Given the description of an element on the screen output the (x, y) to click on. 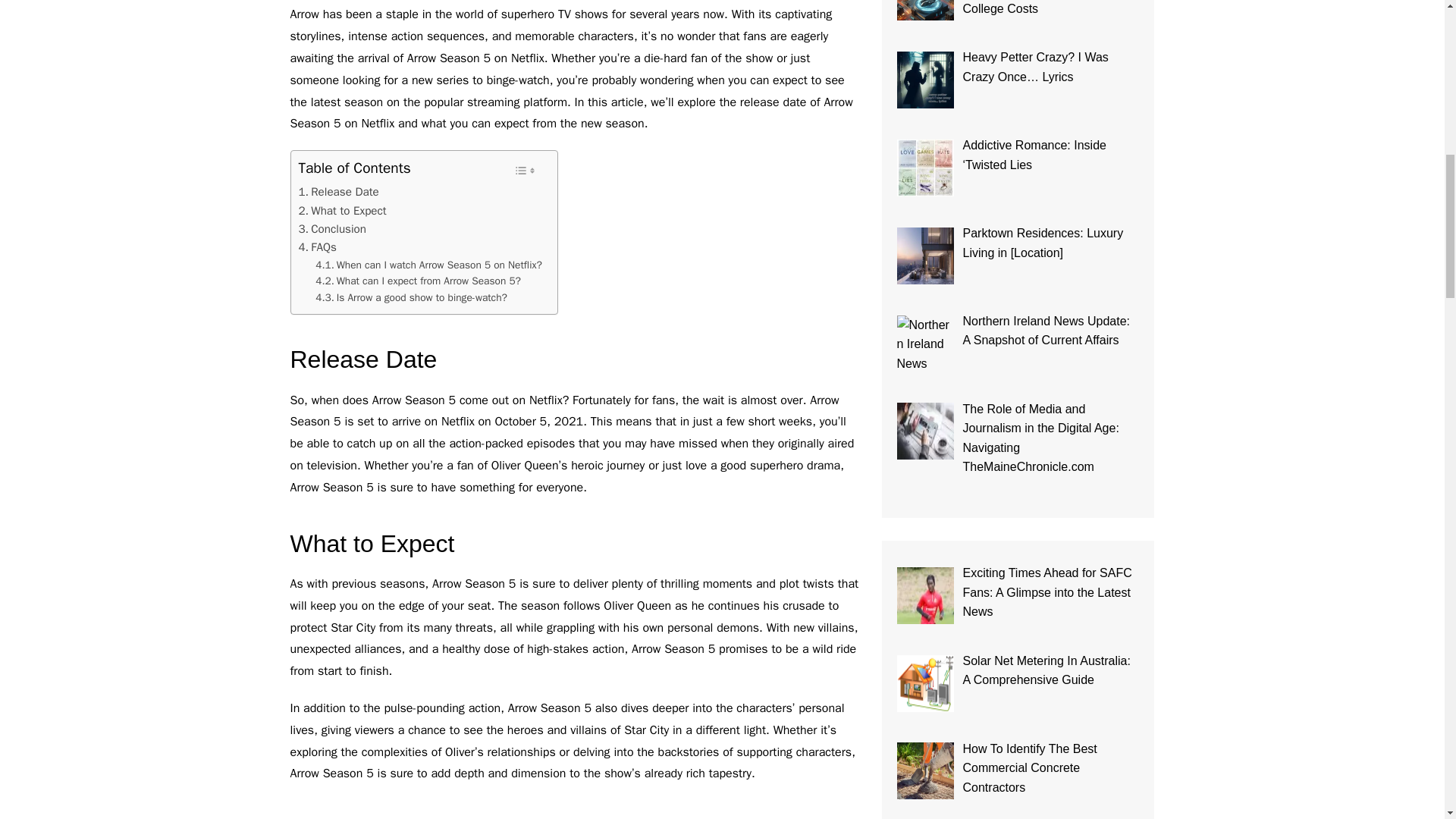
What to Expect (342, 210)
Is Arrow a good show to binge-watch? (410, 297)
textbooks, transportation and room and board are all... (924, 10)
What can I expect from Arrow Season 5? (418, 280)
When can I watch Arrow Season 5 on Netflix? (428, 265)
FAQs (317, 247)
What to Expect (342, 210)
Release Date (338, 191)
Conclusion (332, 229)
Release Date (338, 191)
